Given the description of an element on the screen output the (x, y) to click on. 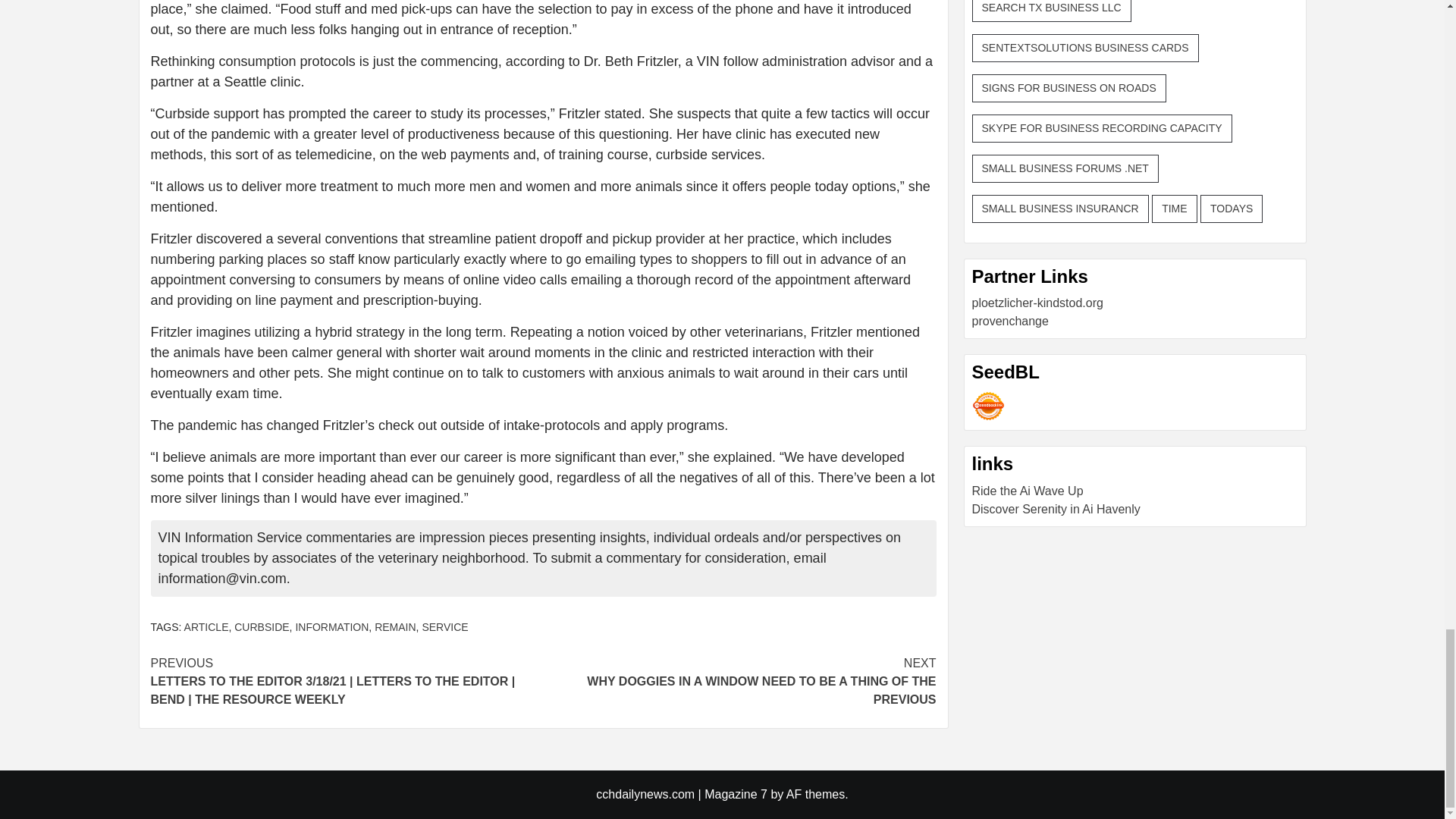
REMAIN (394, 626)
CURBSIDE (261, 626)
ARTICLE (206, 626)
Seedbacklink (988, 405)
INFORMATION (331, 626)
SERVICE (444, 626)
